Given the description of an element on the screen output the (x, y) to click on. 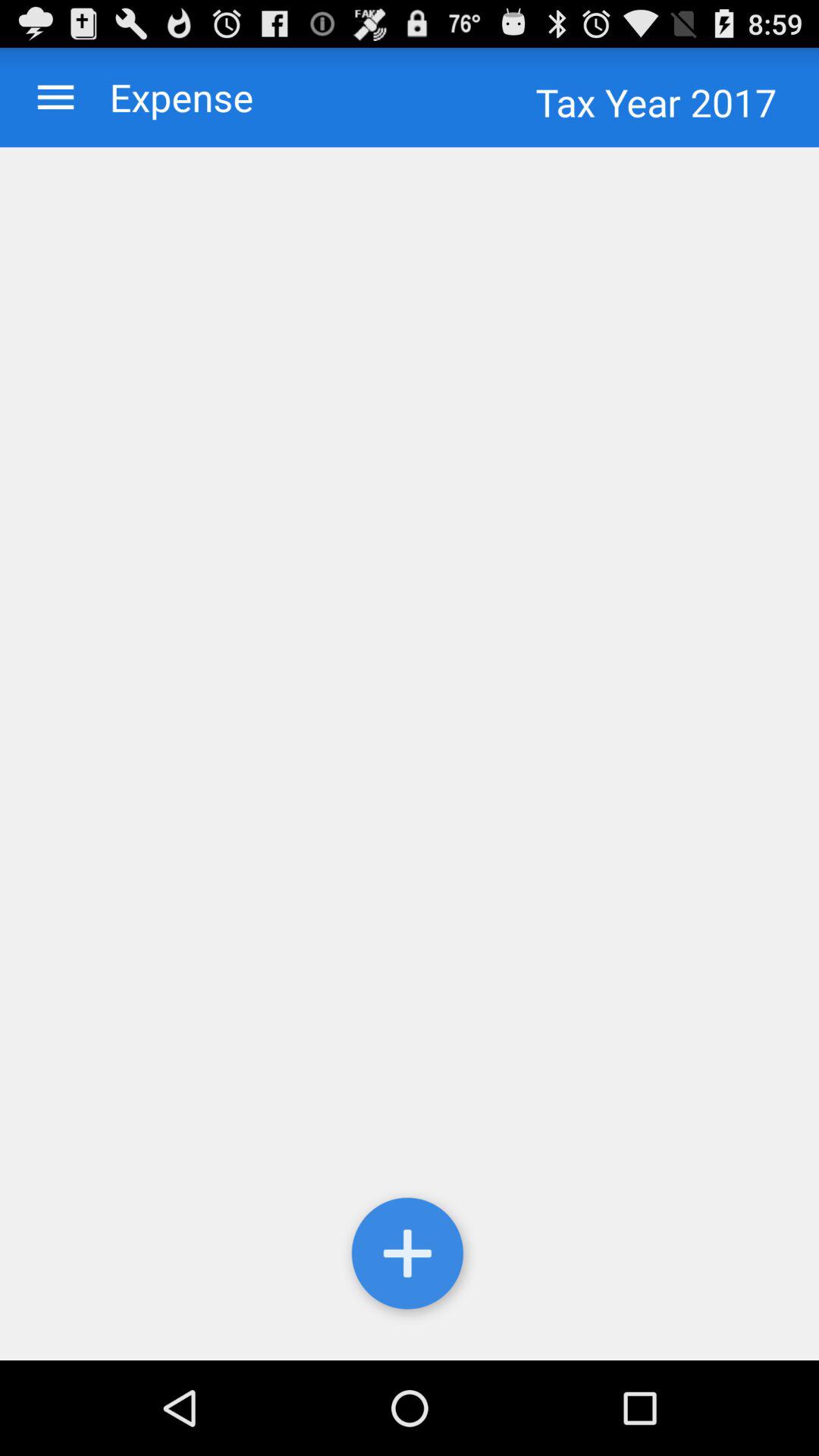
click icon next to the expense (55, 97)
